Given the description of an element on the screen output the (x, y) to click on. 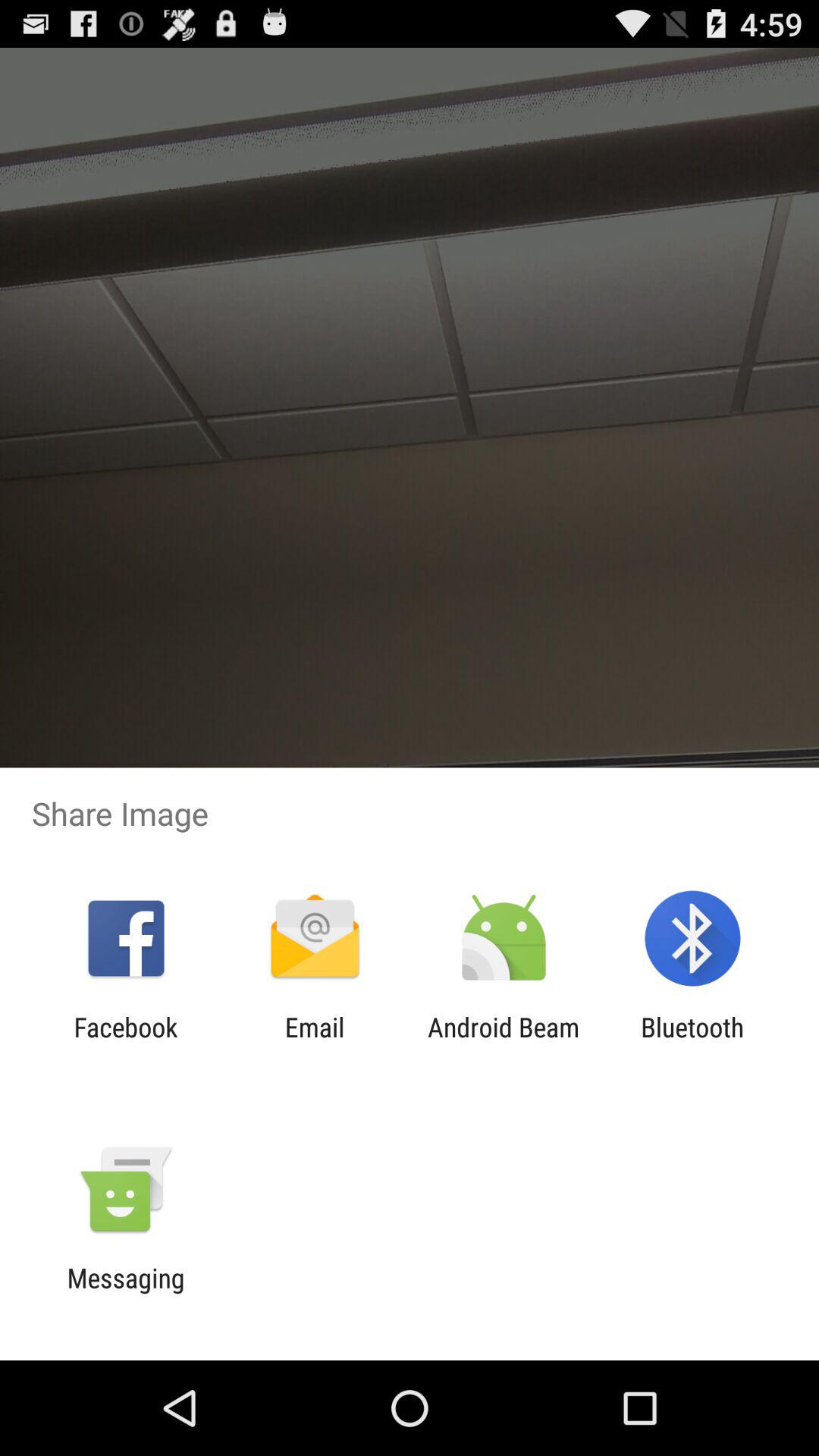
tap the email icon (314, 1042)
